Given the description of an element on the screen output the (x, y) to click on. 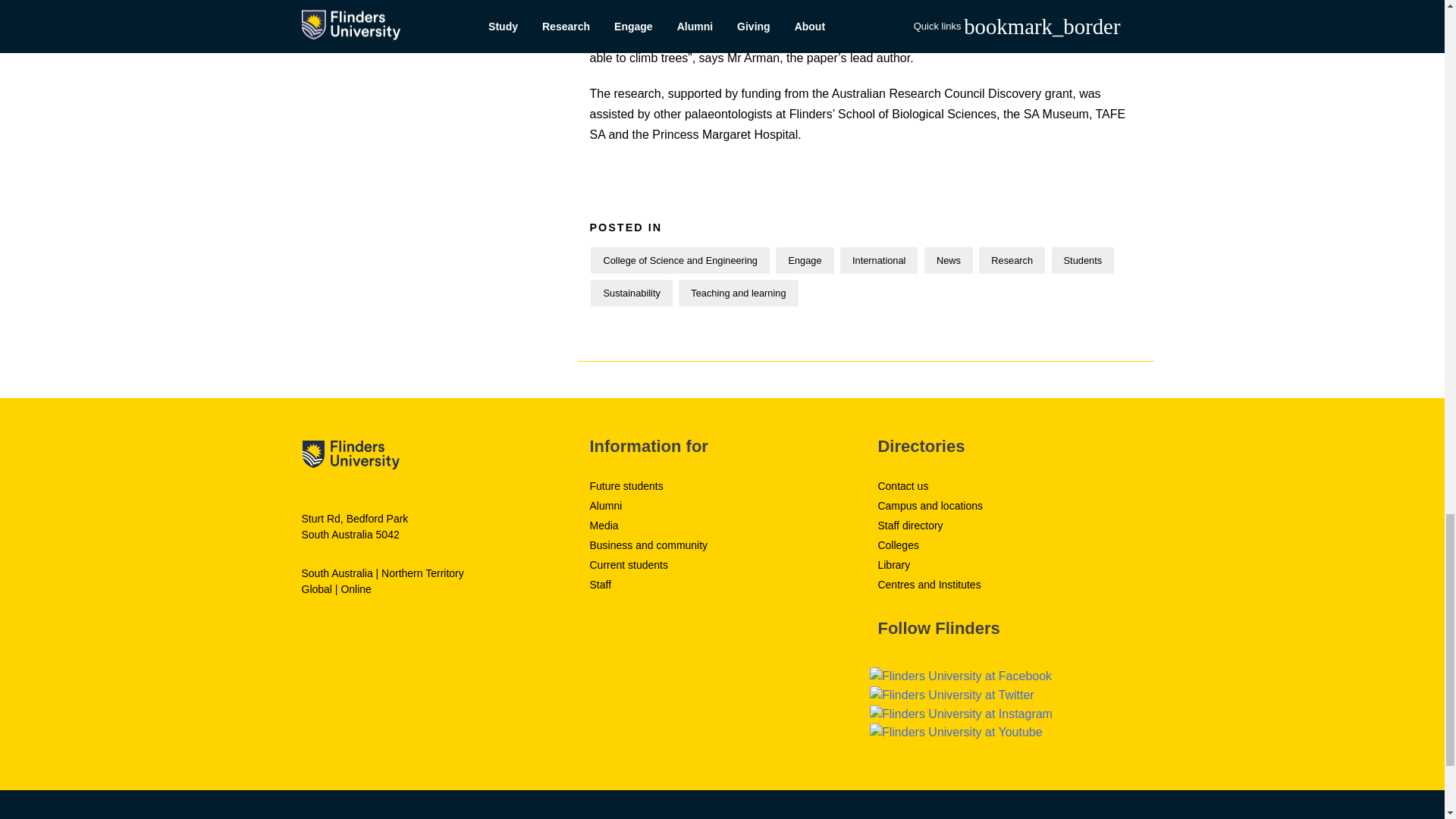
International (878, 260)
Engage (804, 260)
College of Science and Engineering (679, 260)
